Given the description of an element on the screen output the (x, y) to click on. 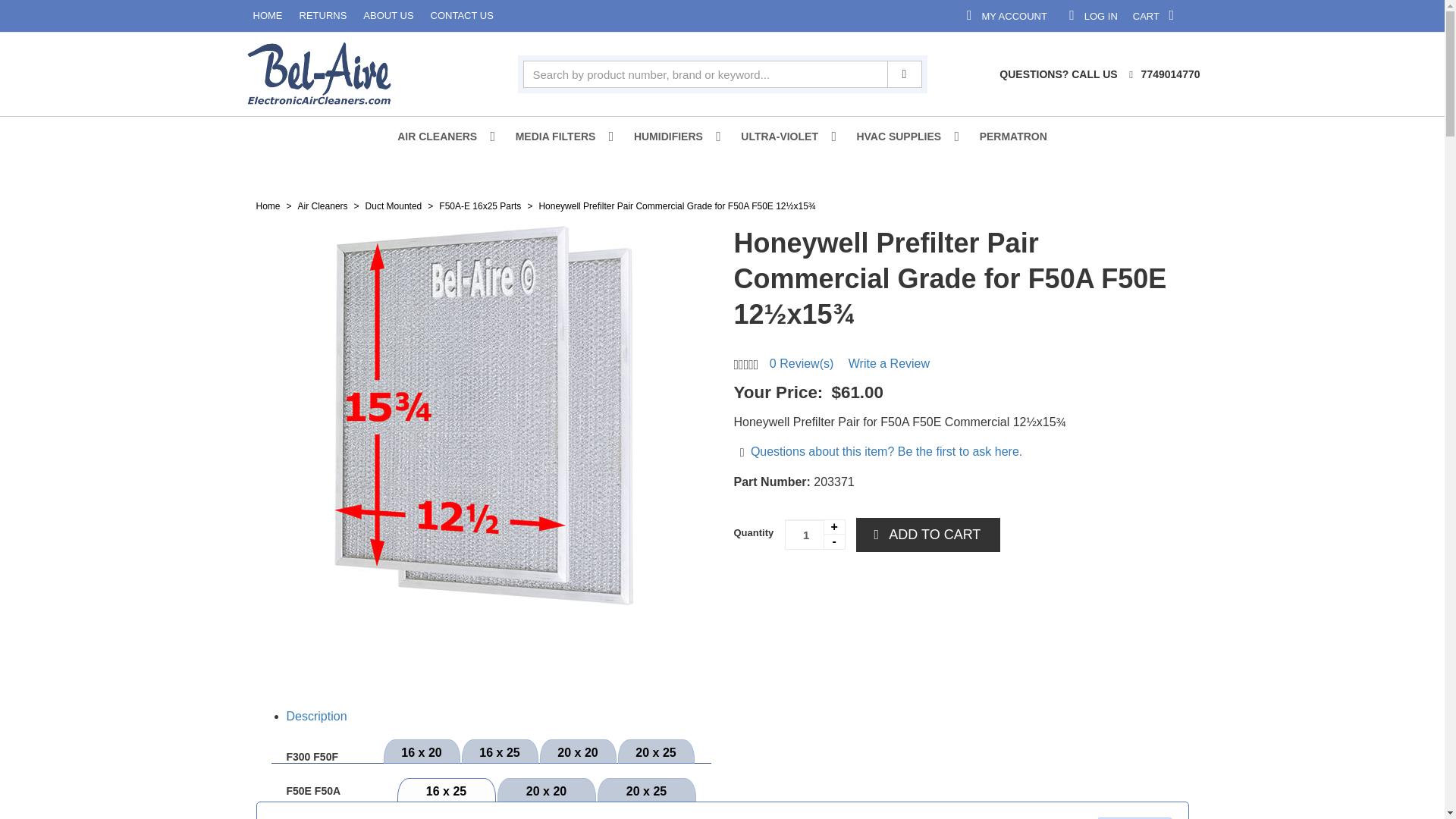
HVAC SUPPLIES (902, 136)
CONTACT US (258, 15)
ABOUT US (1252, 15)
HUMIDIFIERS (139, 15)
MEDIA FILTERS (671, 136)
RETURNS (559, 136)
ULTRA-VIOLET (40, 15)
7749014770 (1345, 15)
